Given the description of an element on the screen output the (x, y) to click on. 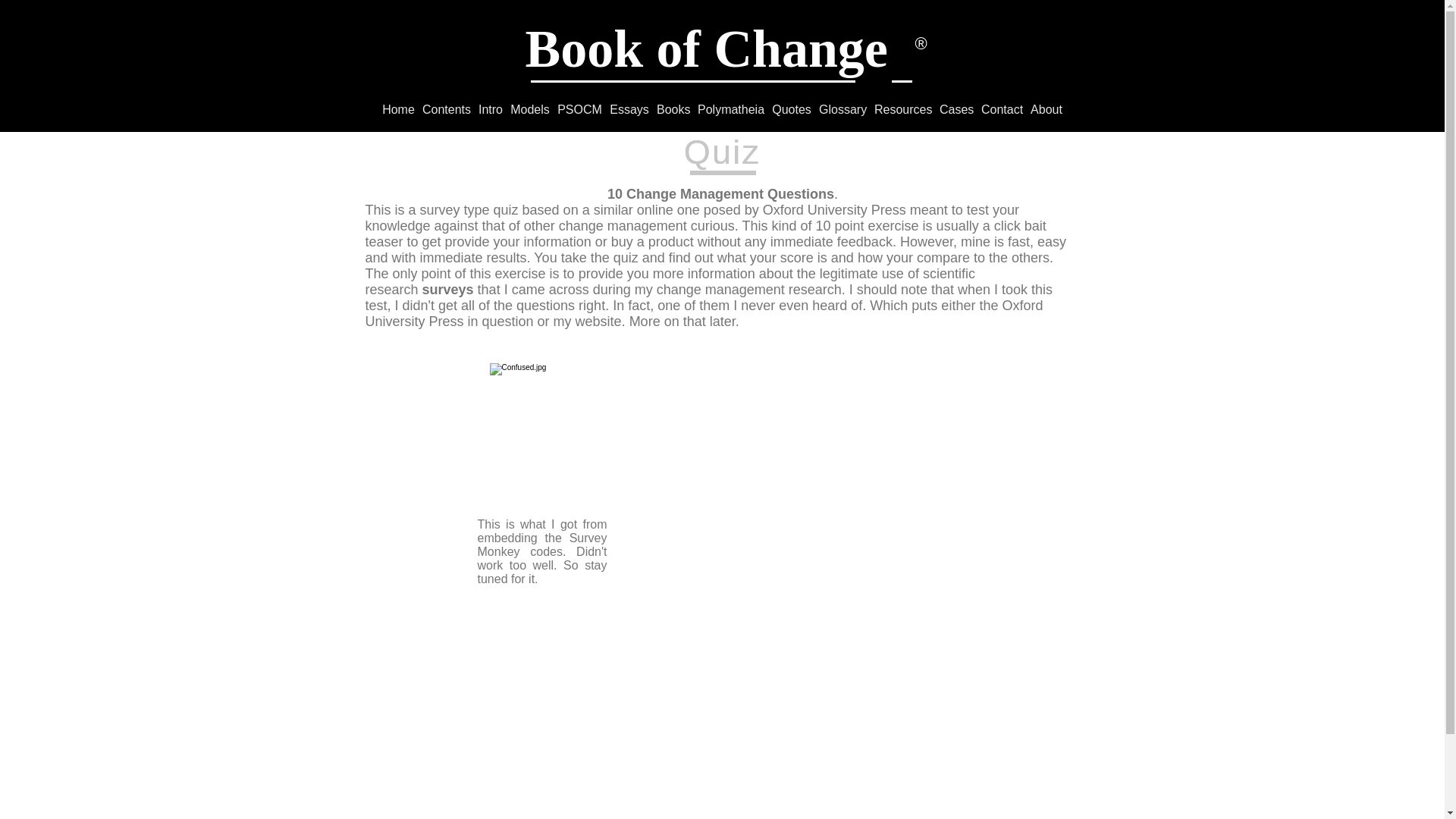
Intro (490, 109)
Contents (446, 109)
Polymatheia (731, 109)
Quotes (791, 109)
Home (398, 109)
Resources (903, 109)
Models (529, 109)
Contact (1001, 109)
About (1045, 109)
Essays (628, 109)
